Given the description of an element on the screen output the (x, y) to click on. 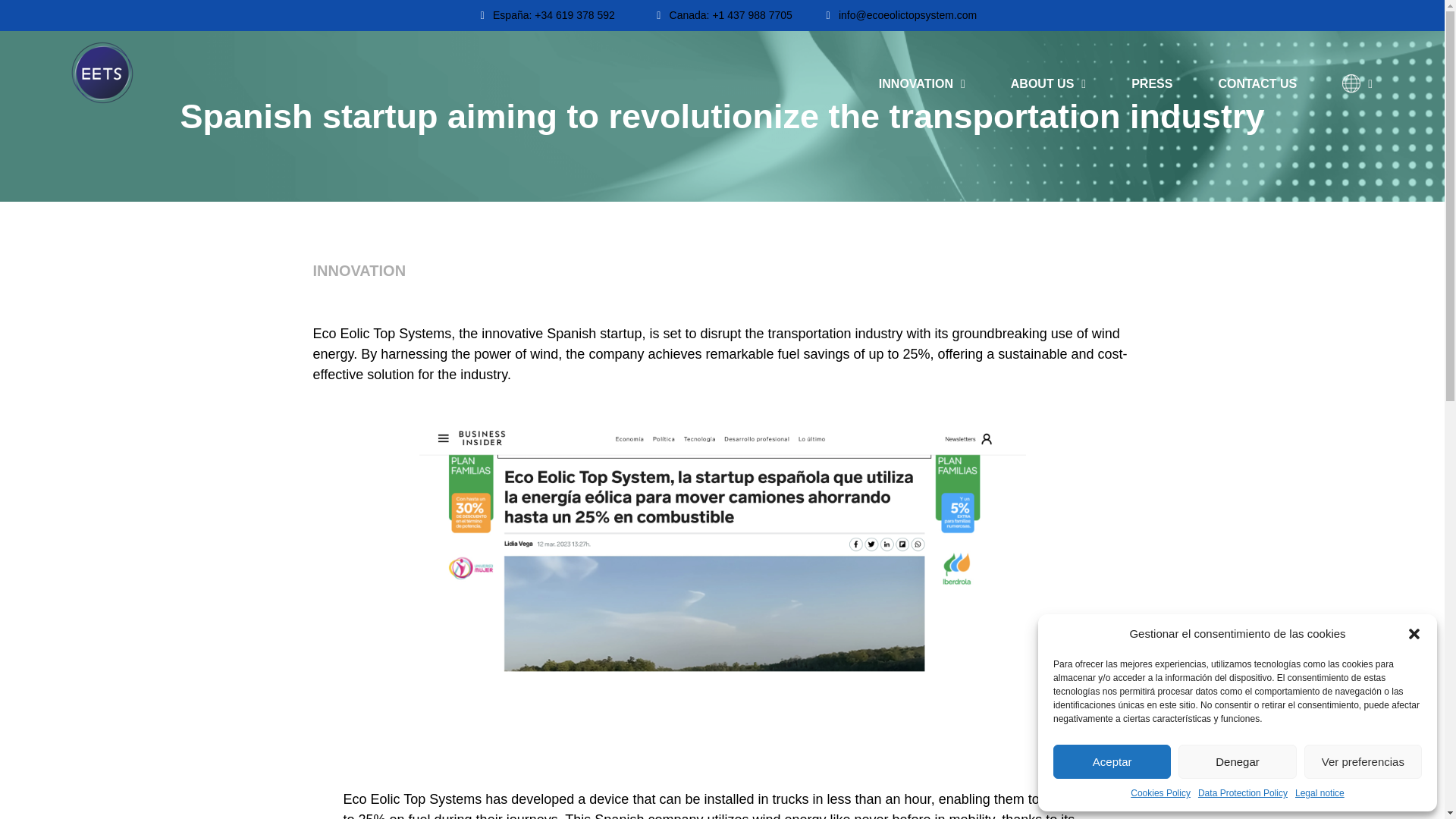
PRESS (1151, 84)
Aceptar (1111, 761)
Legal notice (1319, 793)
CONTACT US (1257, 84)
Cookies Policy (1161, 793)
ABOUT US (1048, 84)
Denegar (1236, 761)
Data Protection Policy (1242, 793)
INNOVATION (922, 84)
Ver preferencias (1363, 761)
